Given the description of an element on the screen output the (x, y) to click on. 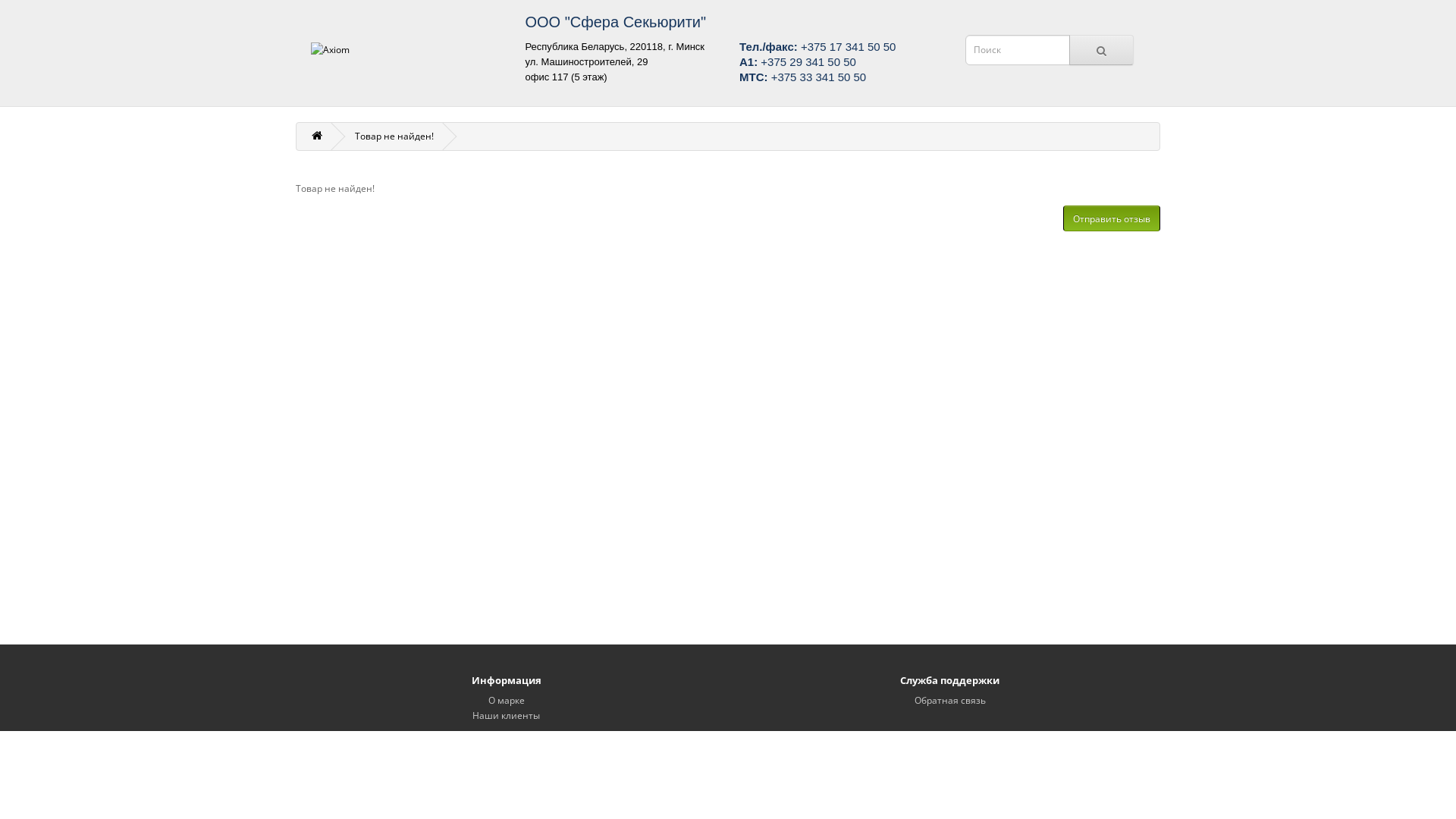
Axiom Element type: hover (406, 49)
